Given the description of an element on the screen output the (x, y) to click on. 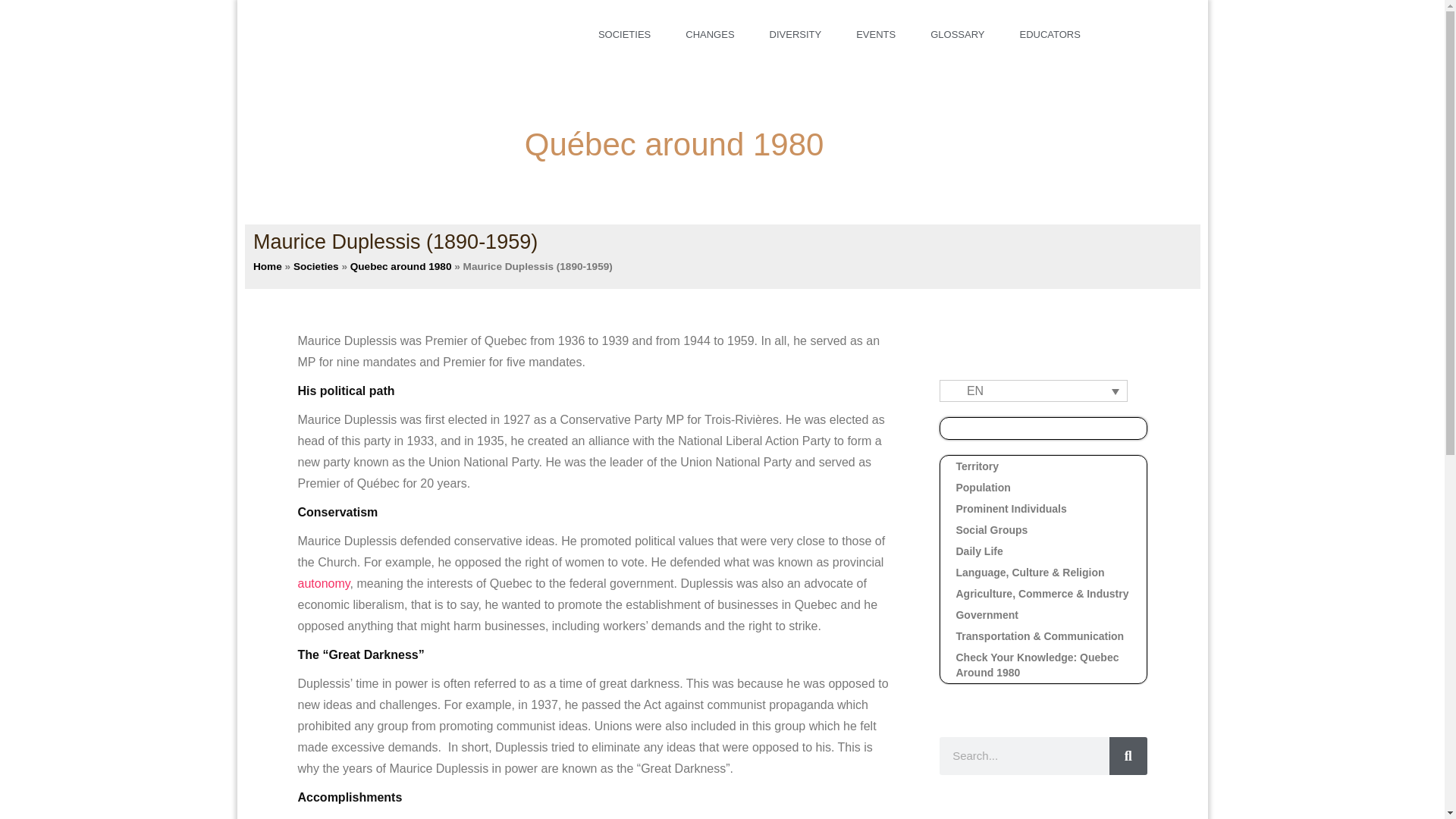
EVENTS (876, 34)
SOCIETIES (624, 34)
CHANGES (709, 34)
DIVERSITY (795, 34)
